Given the description of an element on the screen output the (x, y) to click on. 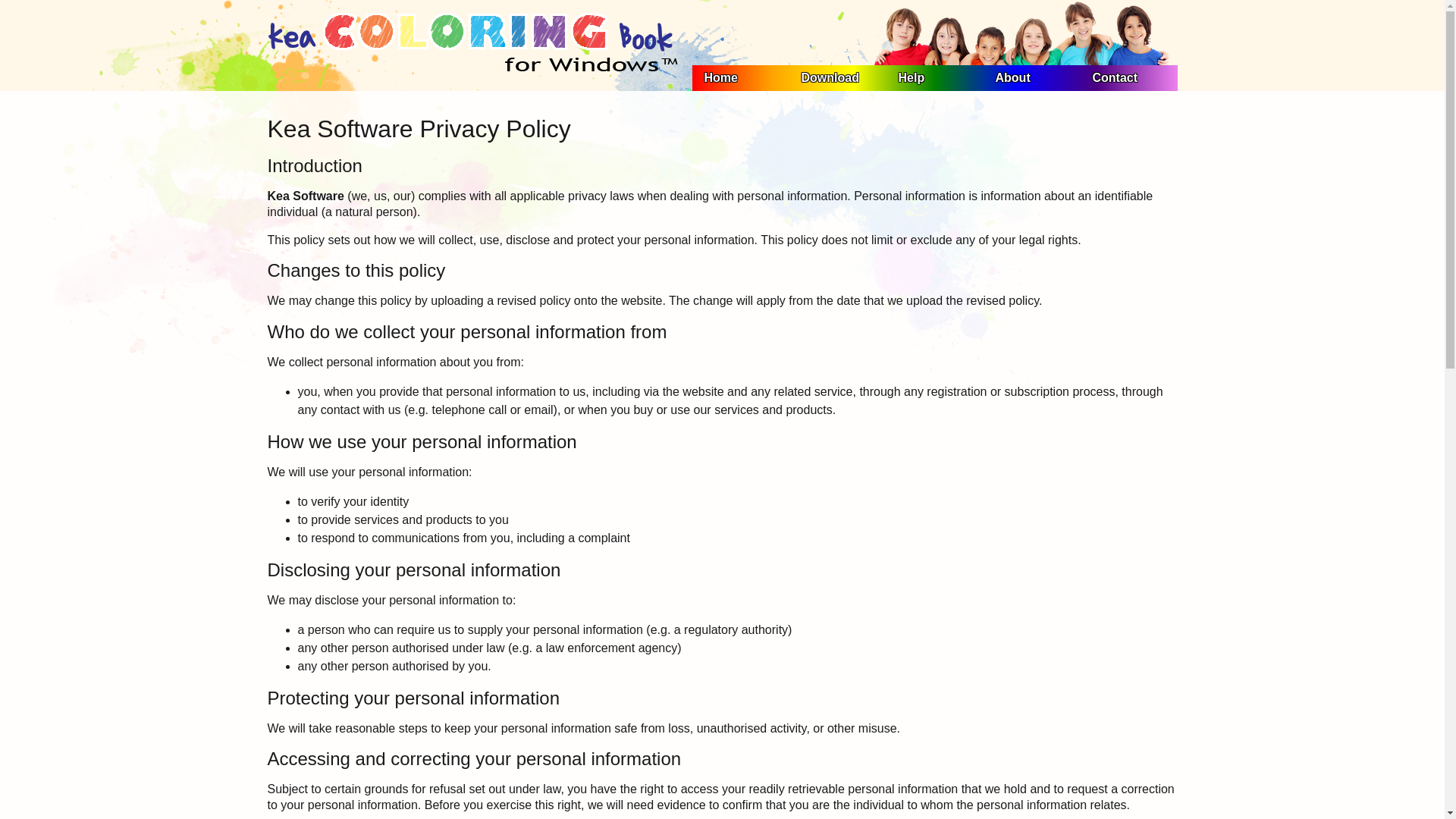
Download (837, 77)
Contact (1128, 77)
Home (740, 77)
